Given the description of an element on the screen output the (x, y) to click on. 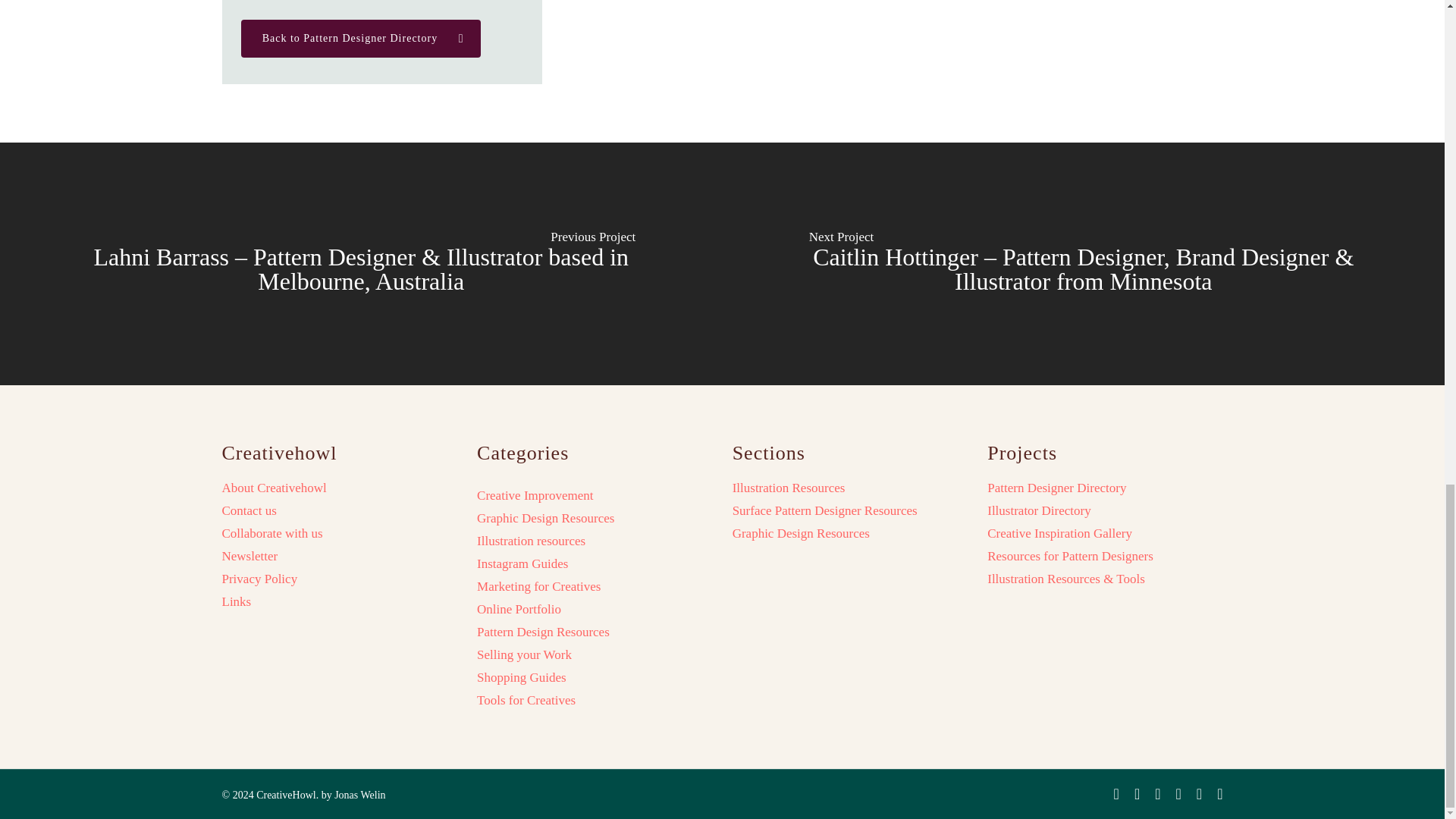
Instagram Guides (522, 564)
Marketing for Creatives (538, 586)
Newsletter (339, 556)
Contact us (339, 510)
Online Portfolio (518, 609)
Graphic Design Resources (545, 518)
Illustration resources (531, 541)
Collaborate with us (339, 533)
About Creativehowl (339, 487)
Creative Improvement (534, 495)
Back to Pattern Designer Directory (361, 38)
Privacy Policy (339, 579)
Links (339, 601)
